Given the description of an element on the screen output the (x, y) to click on. 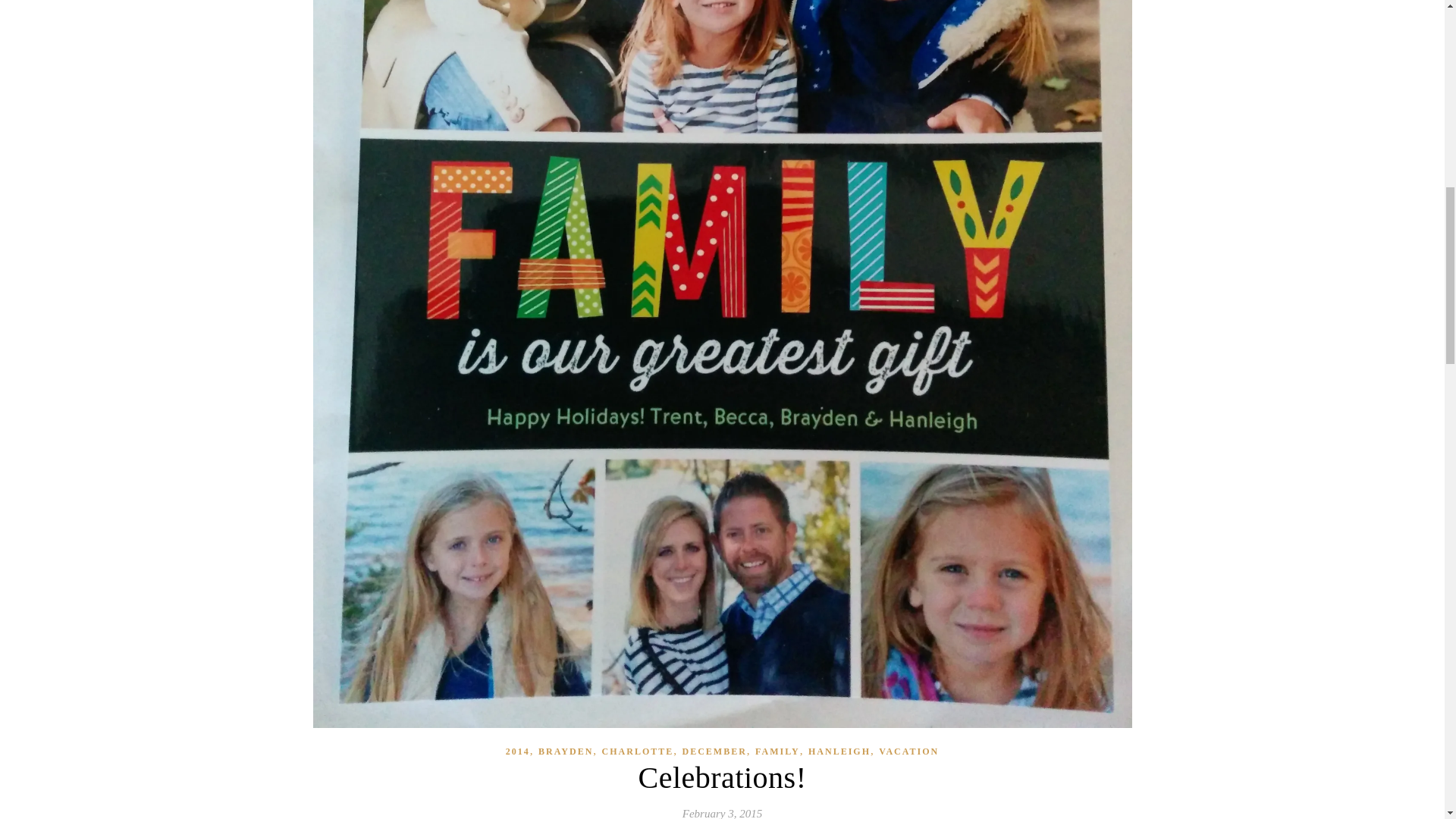
2014 (517, 751)
HANLEIGH (839, 751)
CHARLOTTE (638, 751)
FAMILY (777, 751)
VACATION (909, 751)
BRAYDEN (565, 751)
DECEMBER (714, 751)
